Given the description of an element on the screen output the (x, y) to click on. 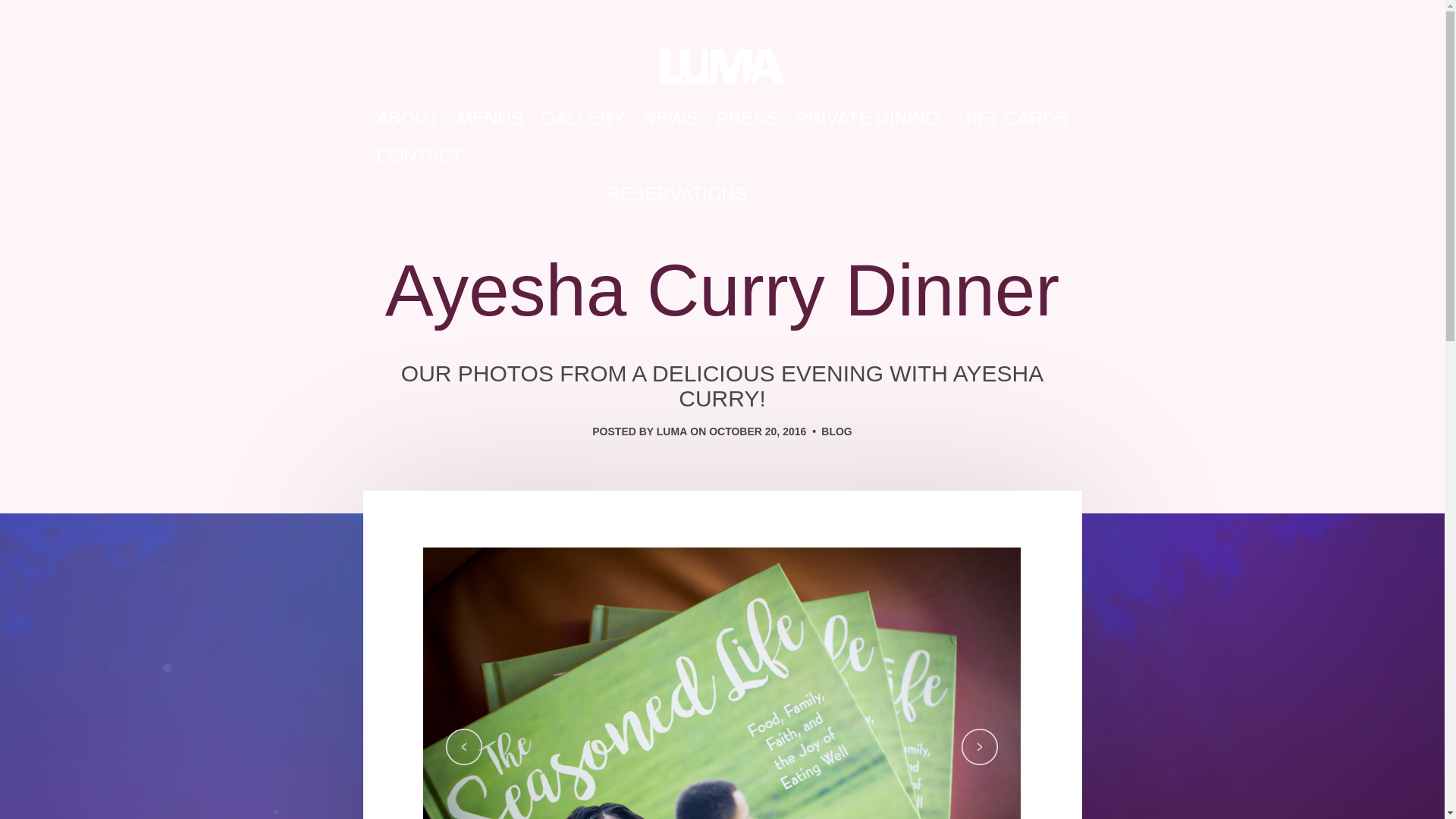
NEWS (669, 118)
Instagram (819, 192)
RESERVATIONS (676, 193)
BLOG (836, 431)
PRIVATE DINING (868, 118)
ABOUT (407, 118)
GALLERY (582, 118)
Previous (463, 746)
PRESS (746, 118)
Instagram (819, 192)
